Given the description of an element on the screen output the (x, y) to click on. 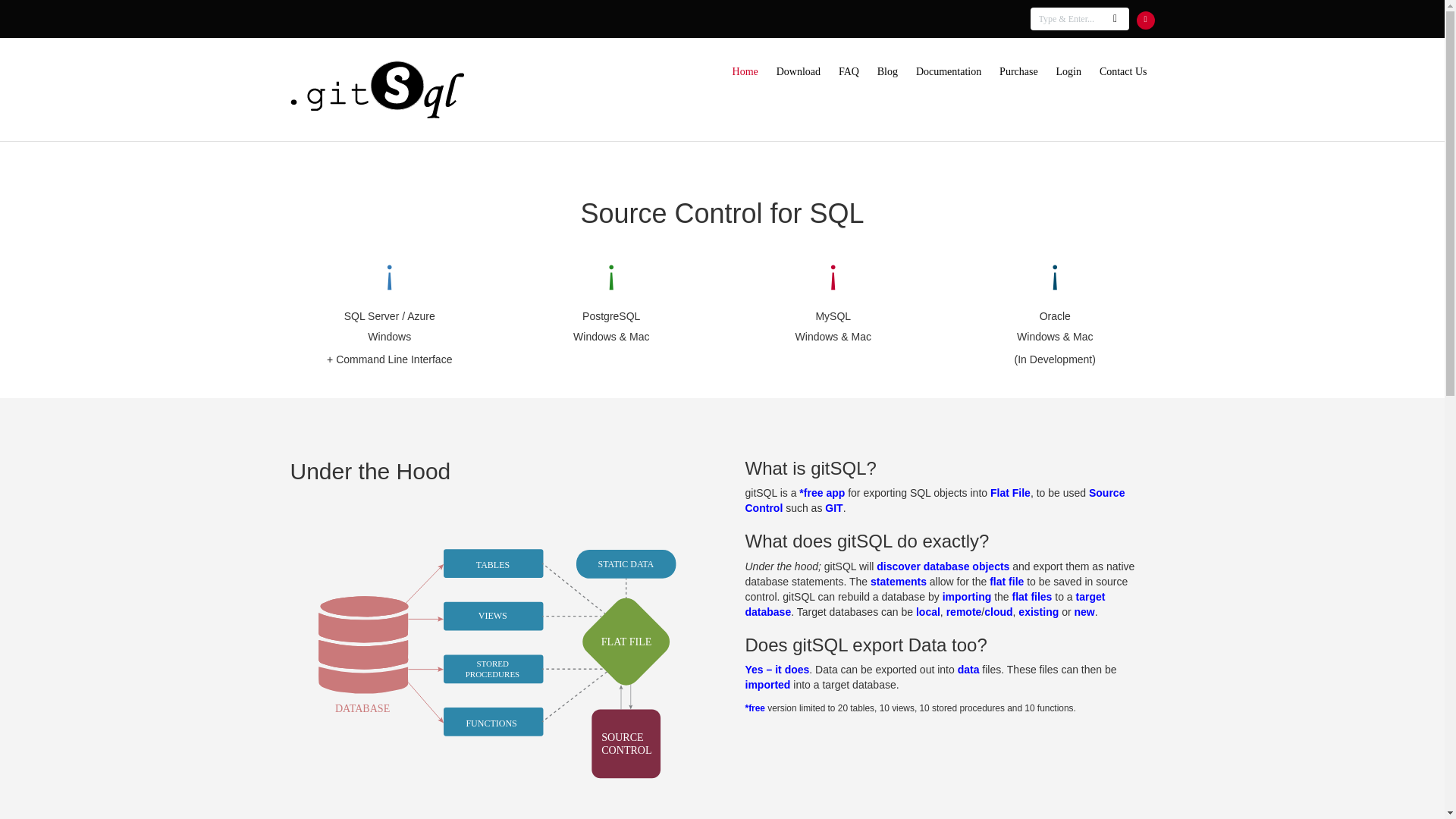
Download (798, 71)
FAQ (848, 71)
Blog (887, 71)
gitSQL (376, 87)
underthehood (493, 660)
Purchase (1018, 71)
Login (1068, 71)
Contact Us (1123, 71)
Documentation (948, 71)
Home (745, 71)
